Given the description of an element on the screen output the (x, y) to click on. 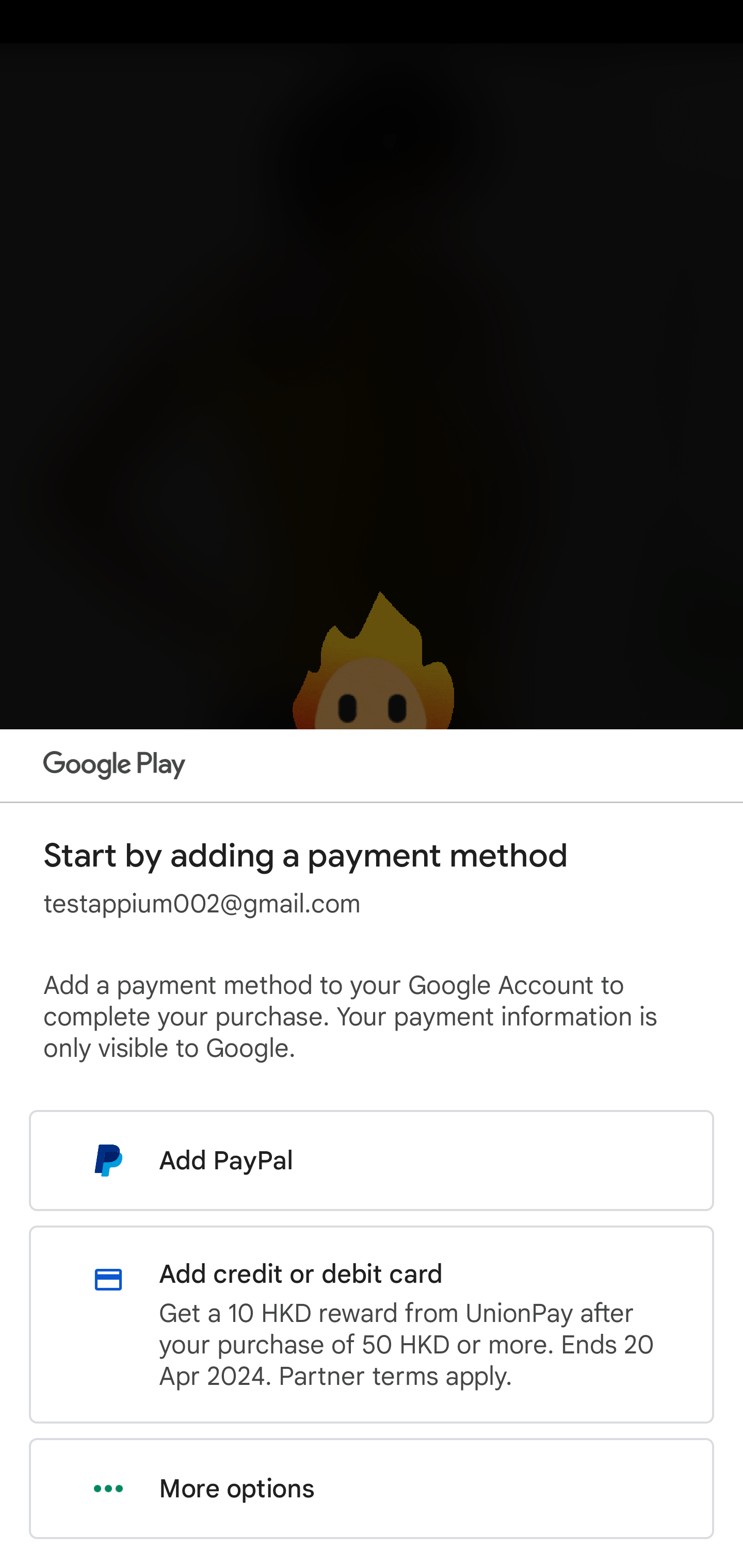
Add PayPal (371, 1160)
More options (371, 1488)
